Given the description of an element on the screen output the (x, y) to click on. 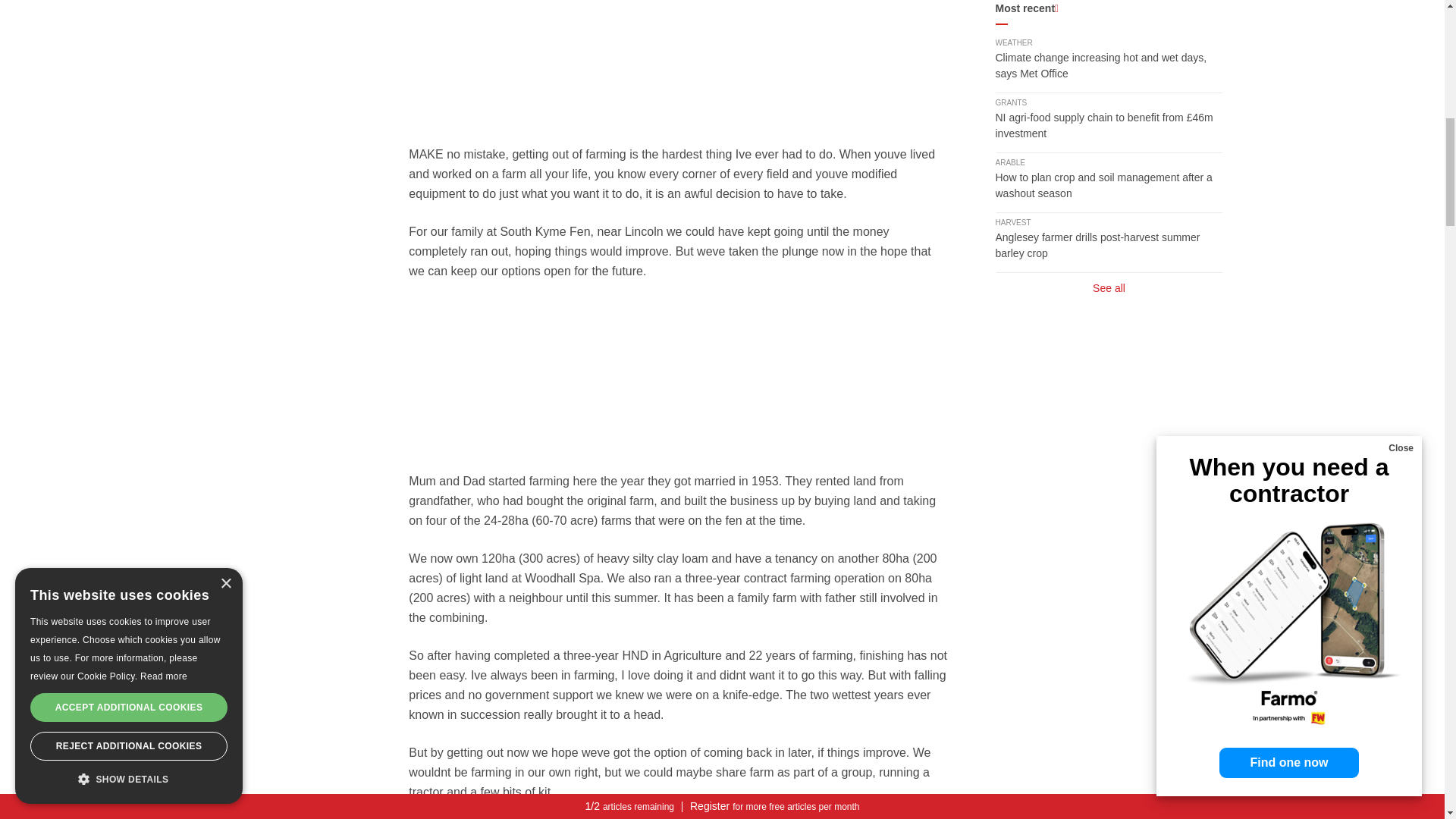
3rd party ad content (679, 54)
3rd party ad content (679, 375)
